Given the description of an element on the screen output the (x, y) to click on. 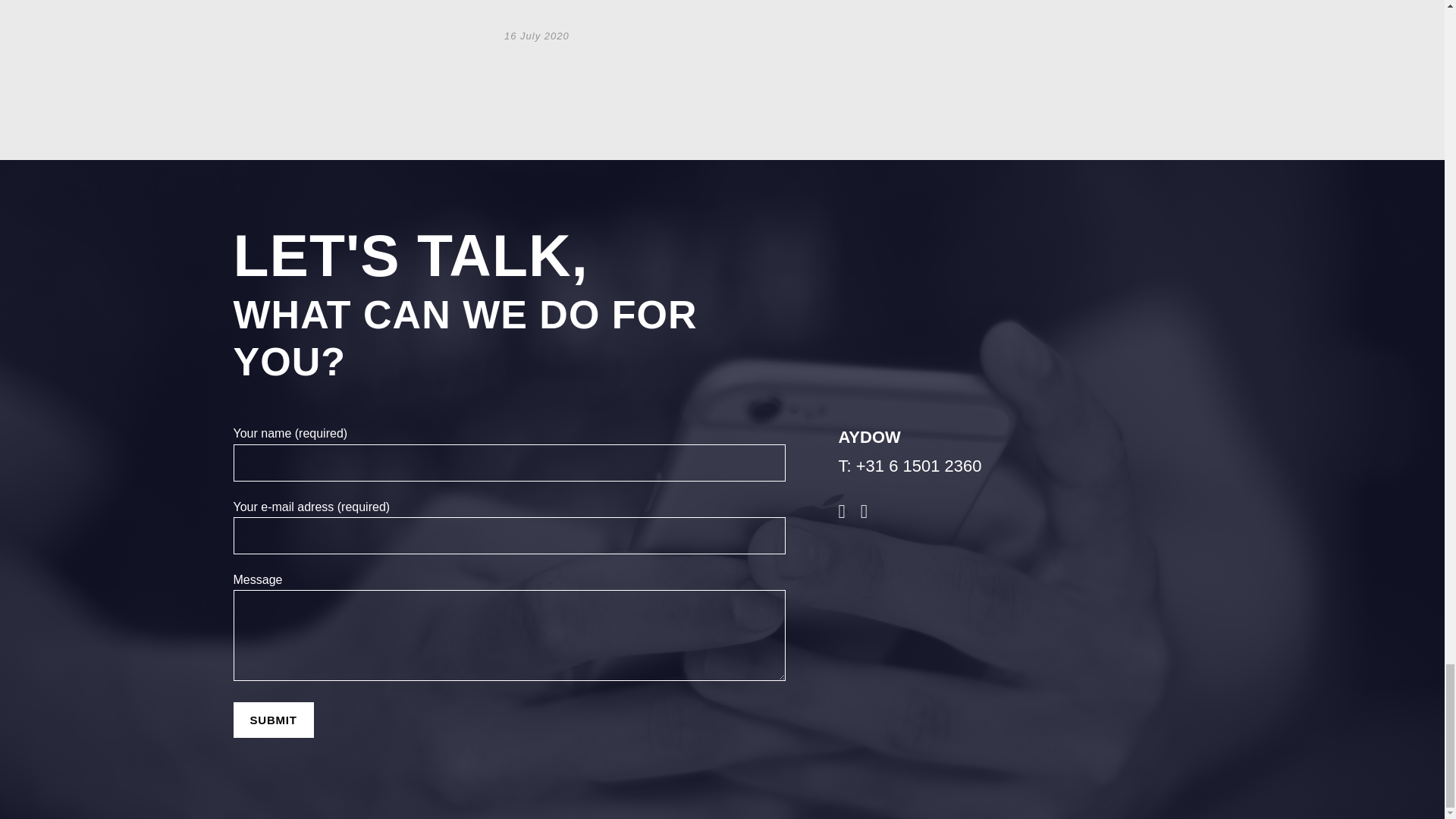
16 July 2020 (536, 35)
linkedin (863, 510)
email (841, 510)
Submit (273, 719)
Submit (273, 719)
